Given the description of an element on the screen output the (x, y) to click on. 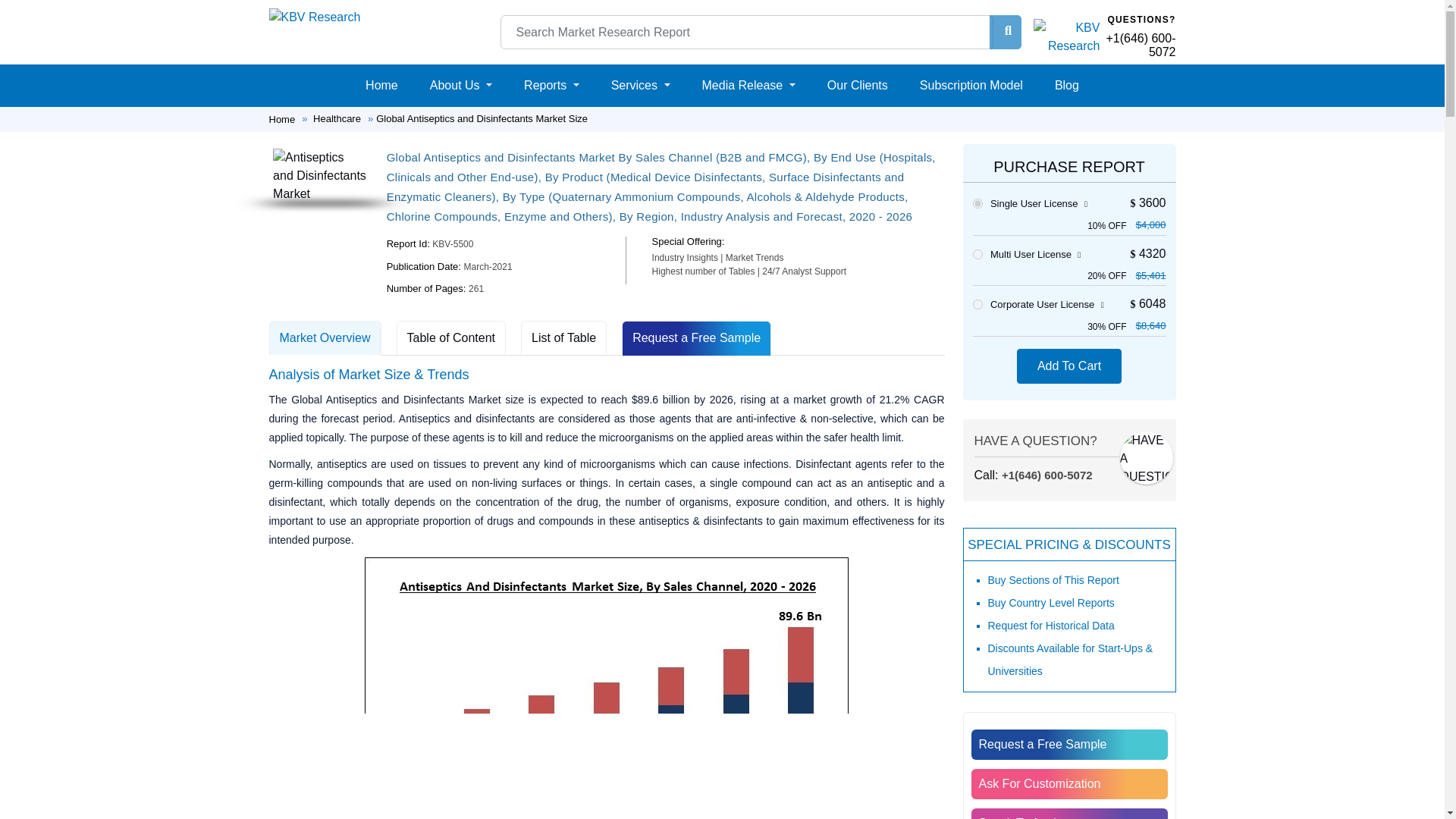
Our Clients (857, 85)
Antiseptics and Disinfectants Market (319, 175)
Blog (1066, 85)
Services (641, 85)
KBV Research (313, 15)
4320 (976, 254)
KBV Research (313, 17)
3600 (976, 203)
Antiseptics and Disinfectants Market Size (606, 688)
Home (381, 85)
